Given the description of an element on the screen output the (x, y) to click on. 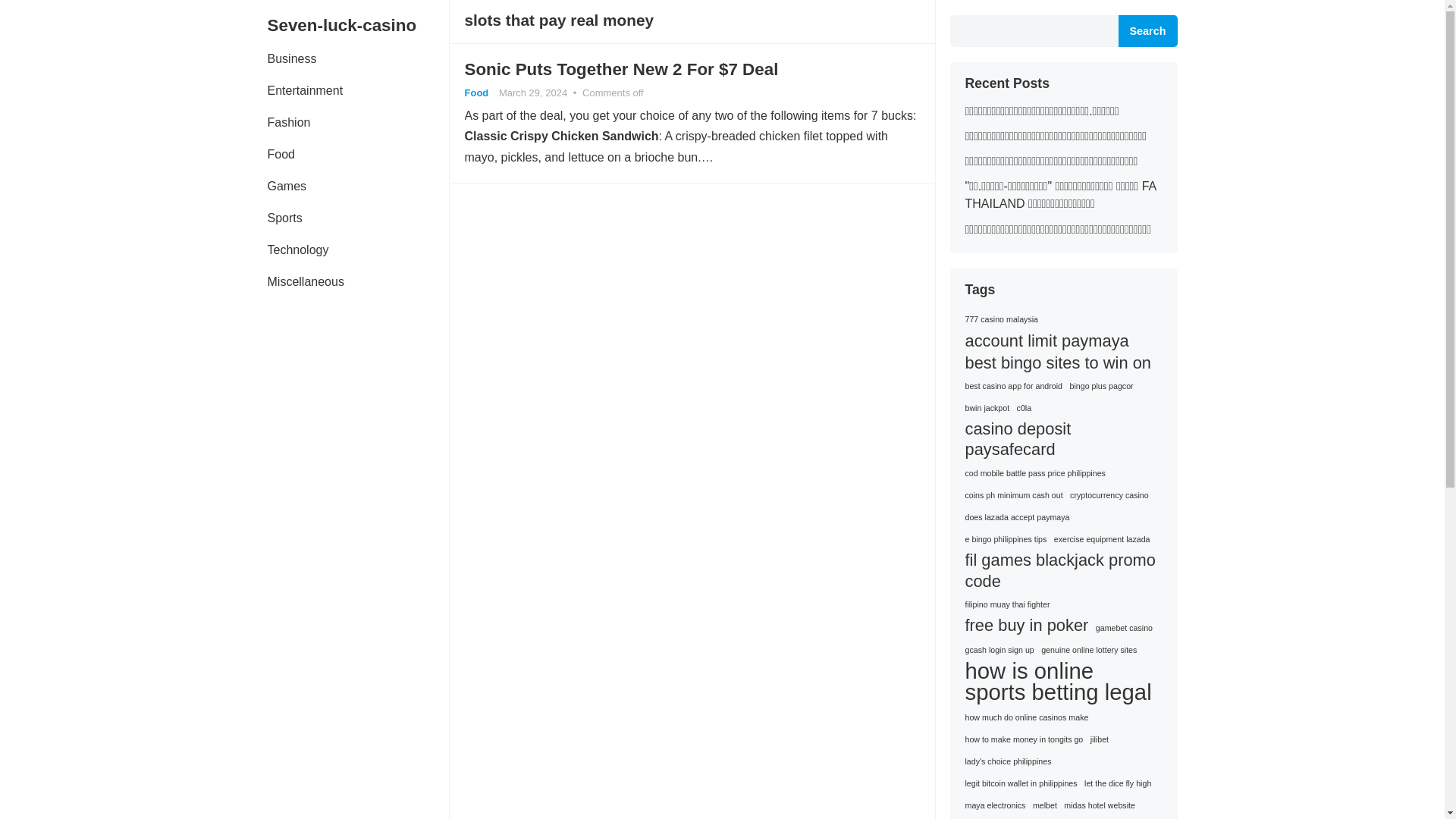
Business (291, 59)
Entertainment (304, 91)
cryptocurrency casino (1109, 495)
Seven-luck-casino (357, 25)
coins ph minimum cash out (1012, 495)
bingo plus pagcor (1102, 385)
cod mobile battle pass price philippines (1034, 473)
Fashion (287, 122)
Sports (284, 218)
account limit paymaya (1045, 340)
777 casino malaysia (1000, 319)
Games (286, 186)
best casino app for android (1012, 385)
Search (1147, 30)
casino deposit paysafecard (1060, 438)
